Given the description of an element on the screen output the (x, y) to click on. 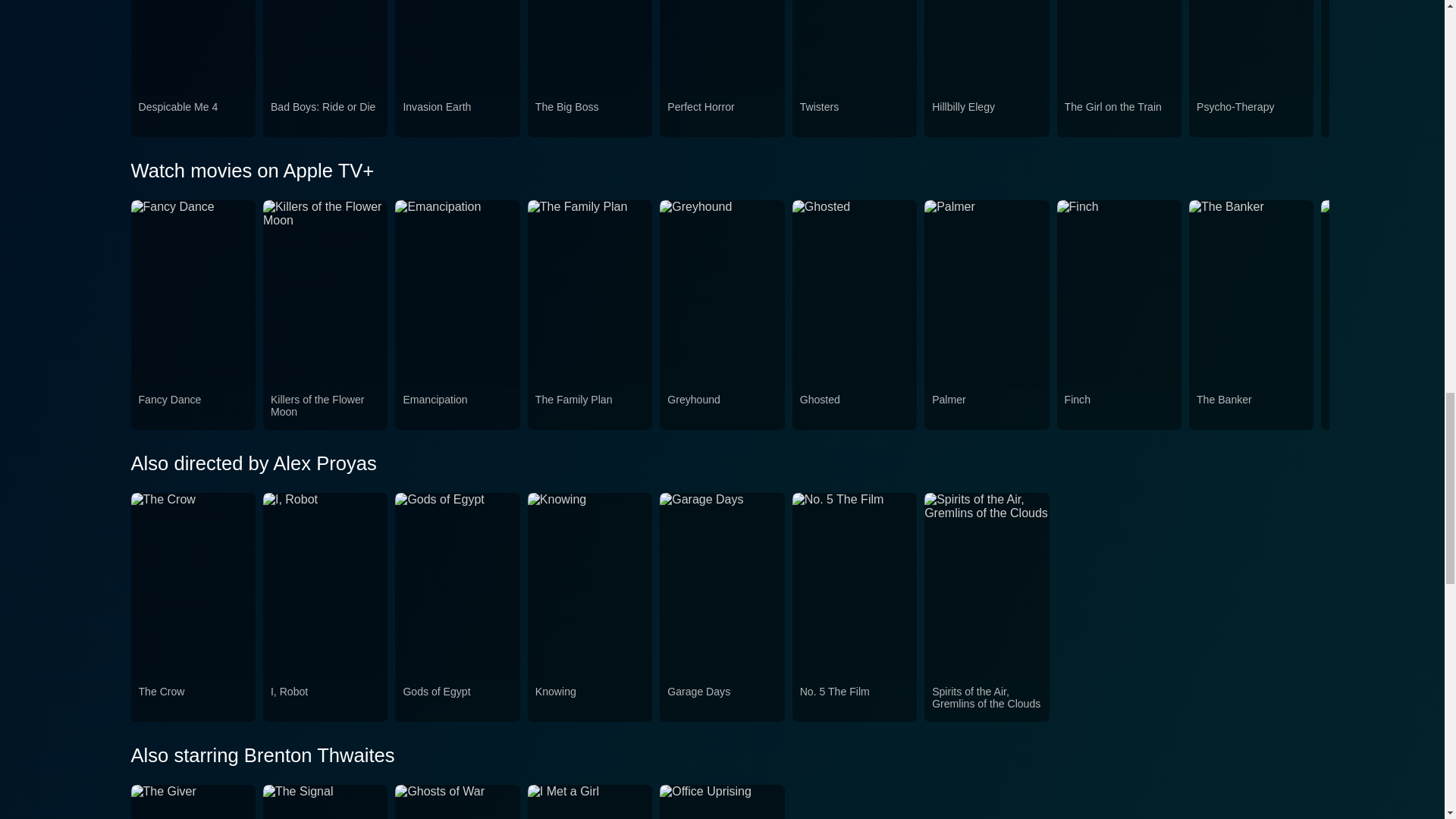
Bad Boys: Ride or Die (325, 115)
Invasion Earth (457, 115)
Despicable Me 4 (192, 115)
The Big Boss (590, 115)
Perfect Horror (721, 115)
